Given the description of an element on the screen output the (x, y) to click on. 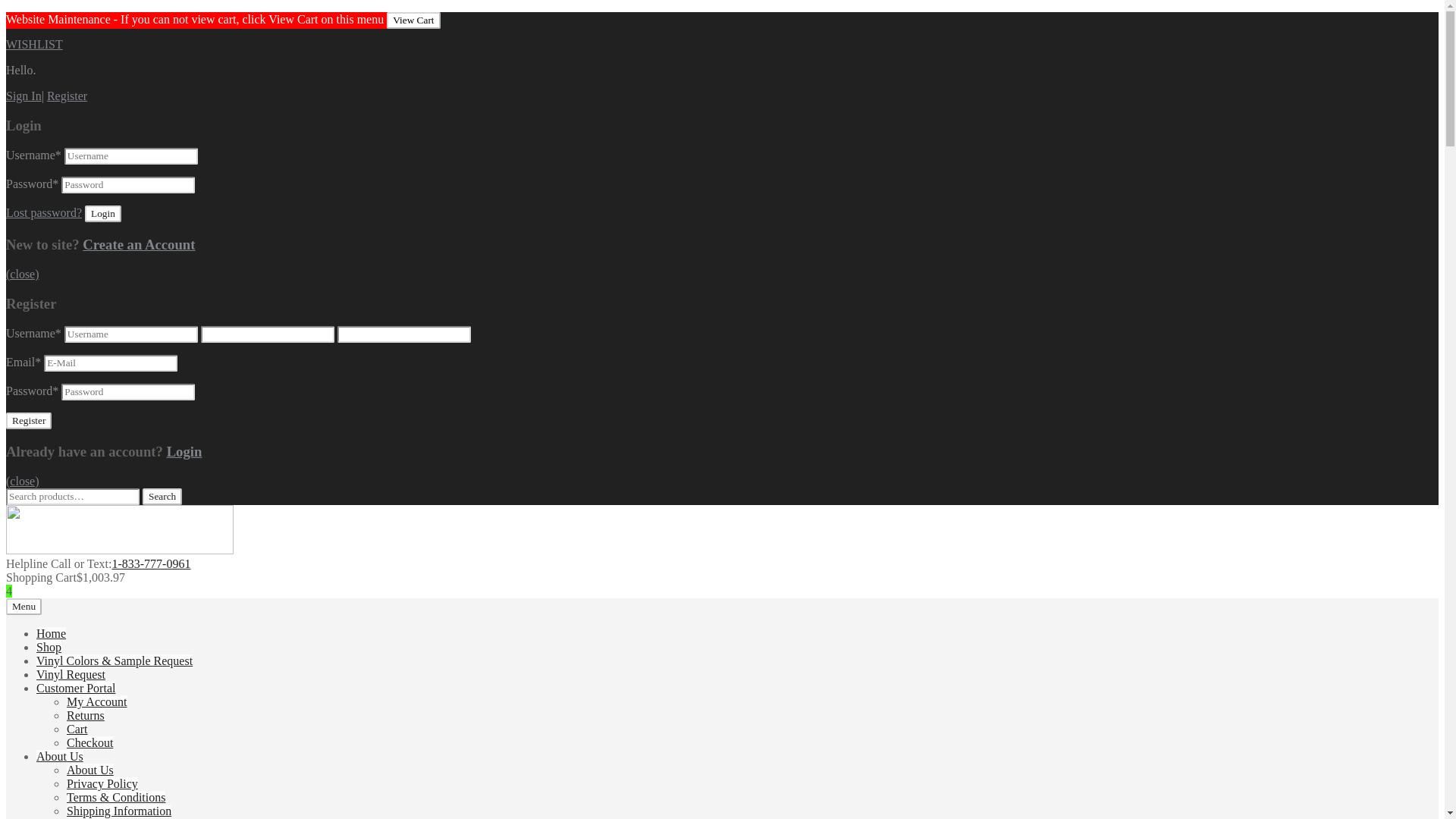
Shipping Information (118, 810)
Digits and Letters only. (131, 334)
Menu (23, 606)
Privacy Policy (102, 783)
WISHLIST (33, 43)
Vinyl Request (70, 674)
Shop (48, 646)
Customer Portal (75, 687)
About Us (59, 756)
